Given the description of an element on the screen output the (x, y) to click on. 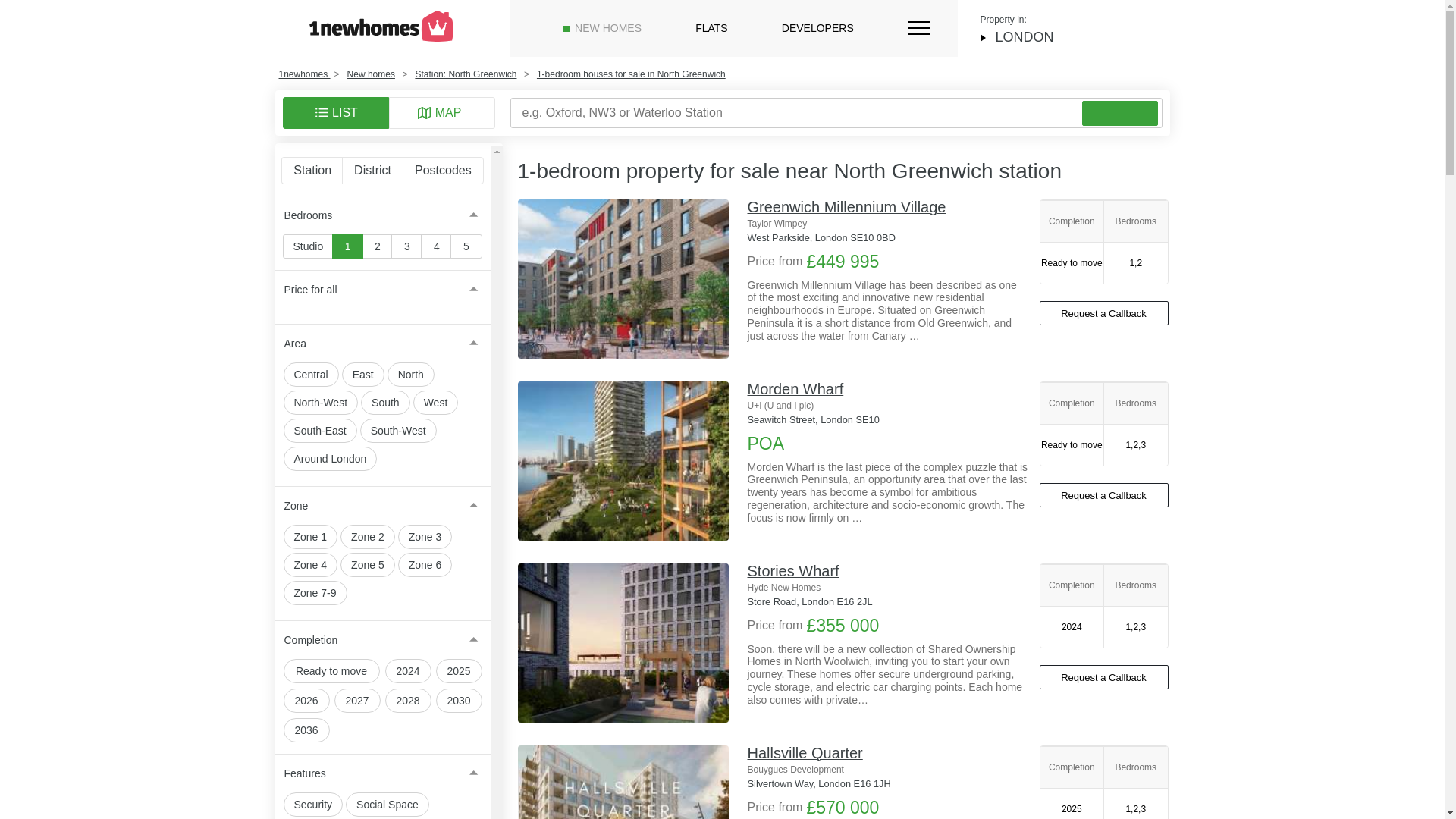
Greenwich Millennium Village (622, 278)
Request a Callback (1103, 494)
Price for all (382, 289)
Request a Callback (1103, 677)
Features (382, 773)
Morden Wharf (622, 460)
Bouygues Development (893, 769)
Hallsville Quarter (805, 752)
New homes (370, 73)
Stories Wharf (794, 570)
Hyde New Homes (893, 587)
NEW HOMES (608, 28)
Zone (382, 505)
Morden Wharf (796, 388)
Area (382, 343)
